Given the description of an element on the screen output the (x, y) to click on. 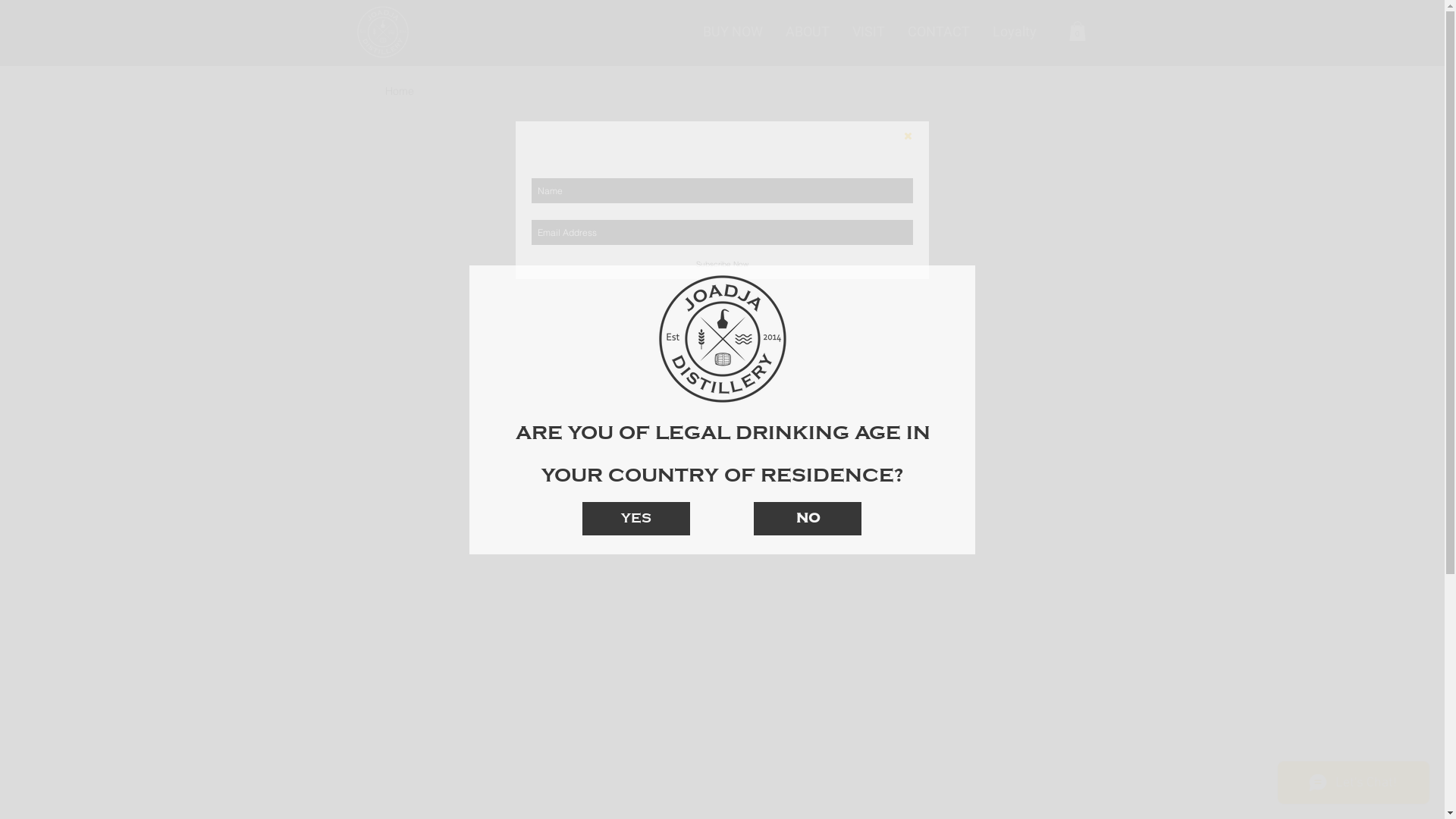
Home Element type: text (399, 90)
VISIT Element type: text (868, 31)
NO Element type: text (807, 518)
Joadja_Distillery_MED.jpg Element type: hover (722, 338)
CONTACT Element type: text (938, 31)
BUY NOW Element type: text (732, 31)
Modal Dialog Element type: hover (722, 409)
0 Element type: text (1077, 30)
ABOUT Element type: text (807, 31)
Continue Shopping Element type: text (721, 237)
